Given the description of an element on the screen output the (x, y) to click on. 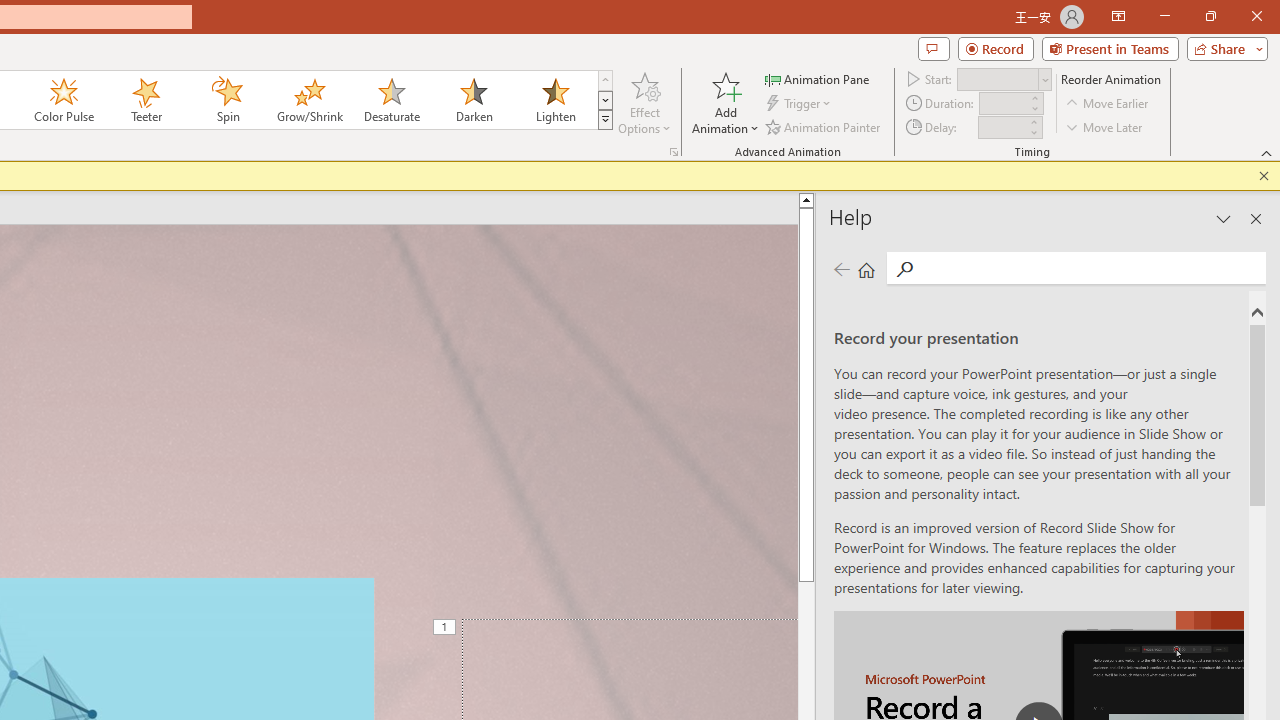
Trigger (799, 103)
Move Earlier (1107, 103)
More (1033, 121)
Animation, sequence 1, on Title 1 (445, 628)
Previous page (841, 269)
More Options... (673, 151)
Teeter (145, 100)
Animation Painter (824, 126)
